Given the description of an element on the screen output the (x, y) to click on. 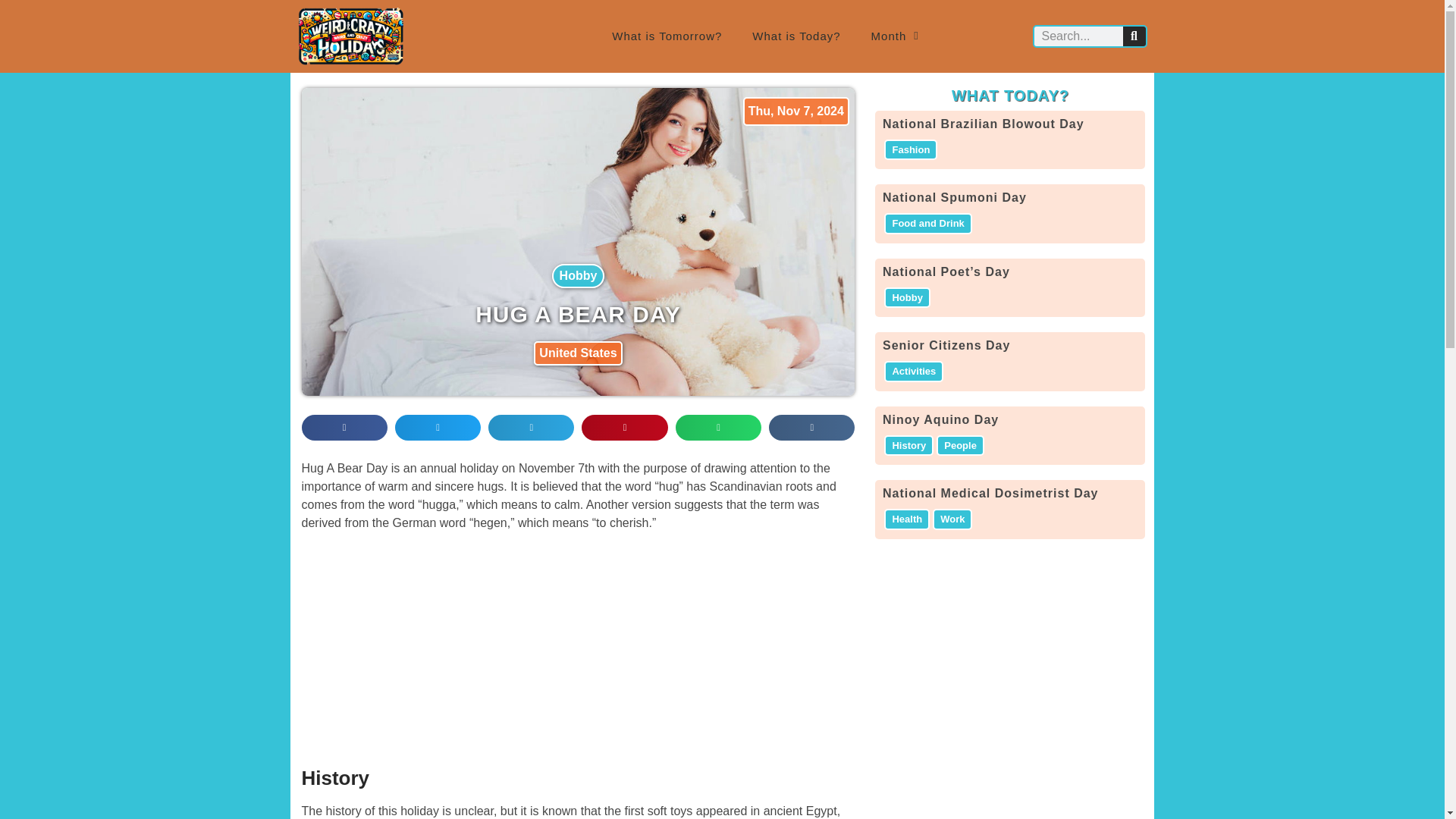
logo (350, 36)
Month (895, 36)
National Brazilian Blowout Day (983, 123)
Food and Drink (927, 223)
Advertisement (1009, 663)
Fashion (910, 149)
What is Today? (796, 36)
United States (577, 353)
Advertisement (576, 648)
What is Tomorrow? (666, 36)
